Given the description of an element on the screen output the (x, y) to click on. 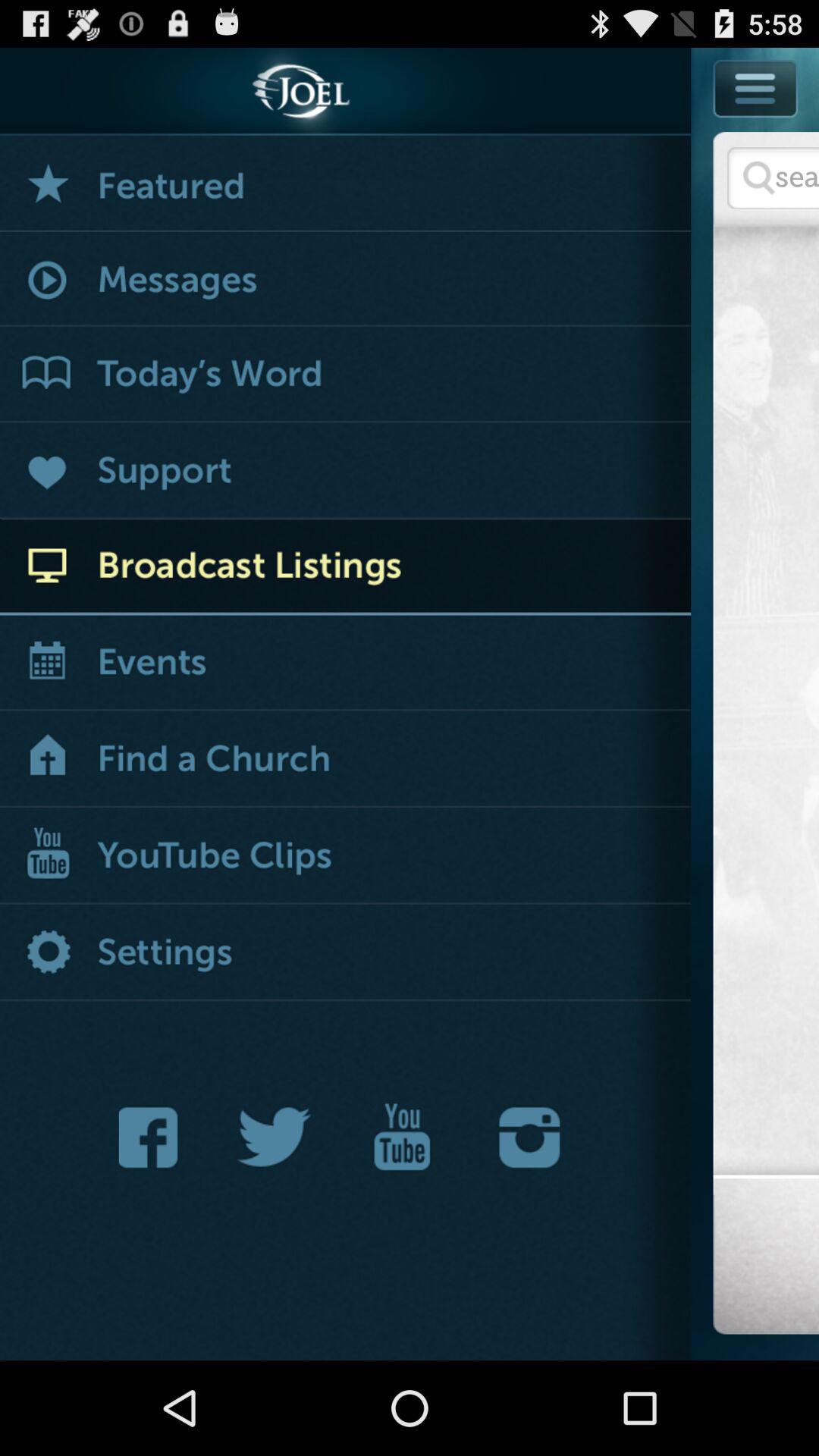
go to youtube channel (401, 1137)
